Given the description of an element on the screen output the (x, y) to click on. 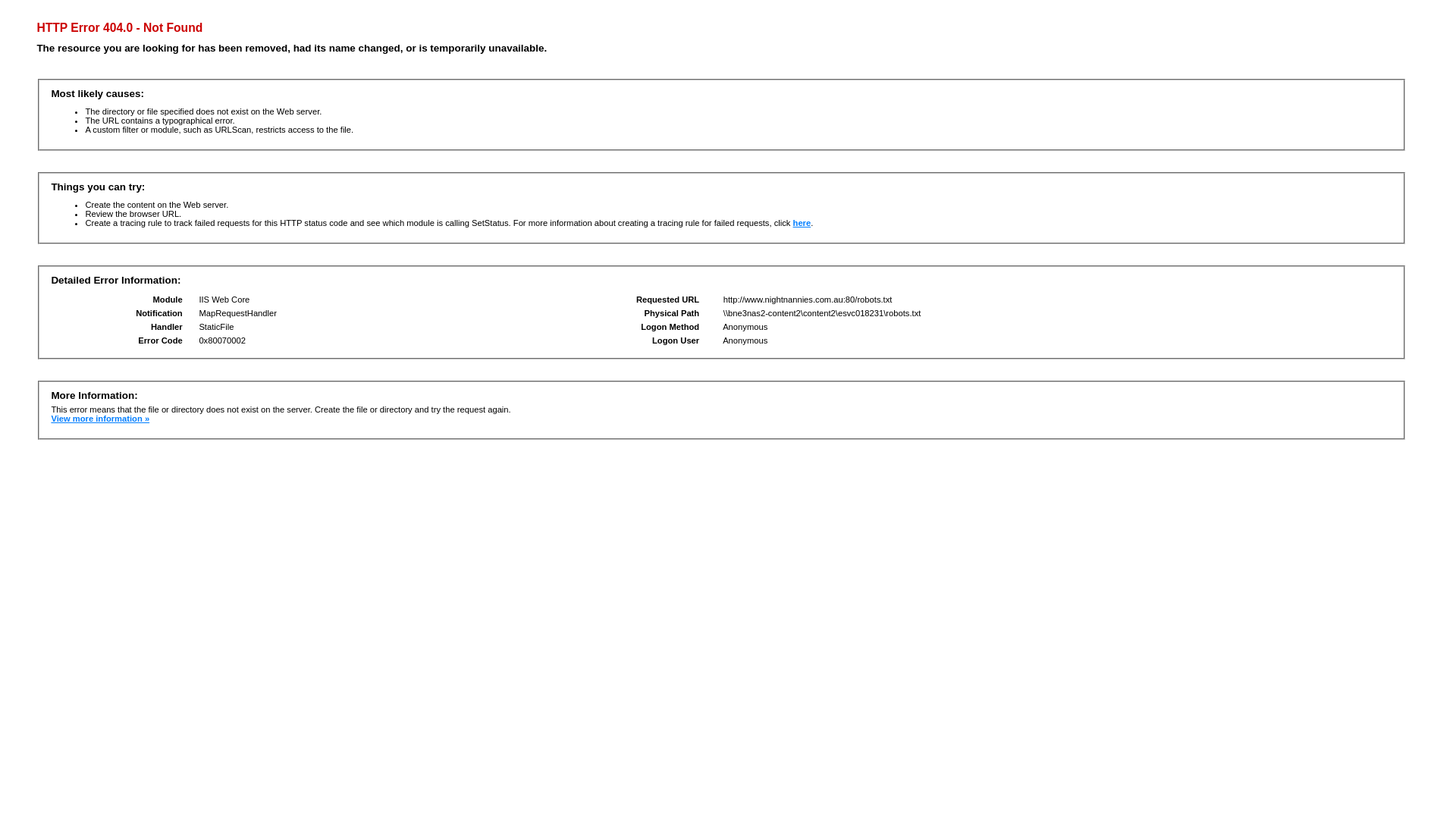
here Element type: text (802, 222)
